Given the description of an element on the screen output the (x, y) to click on. 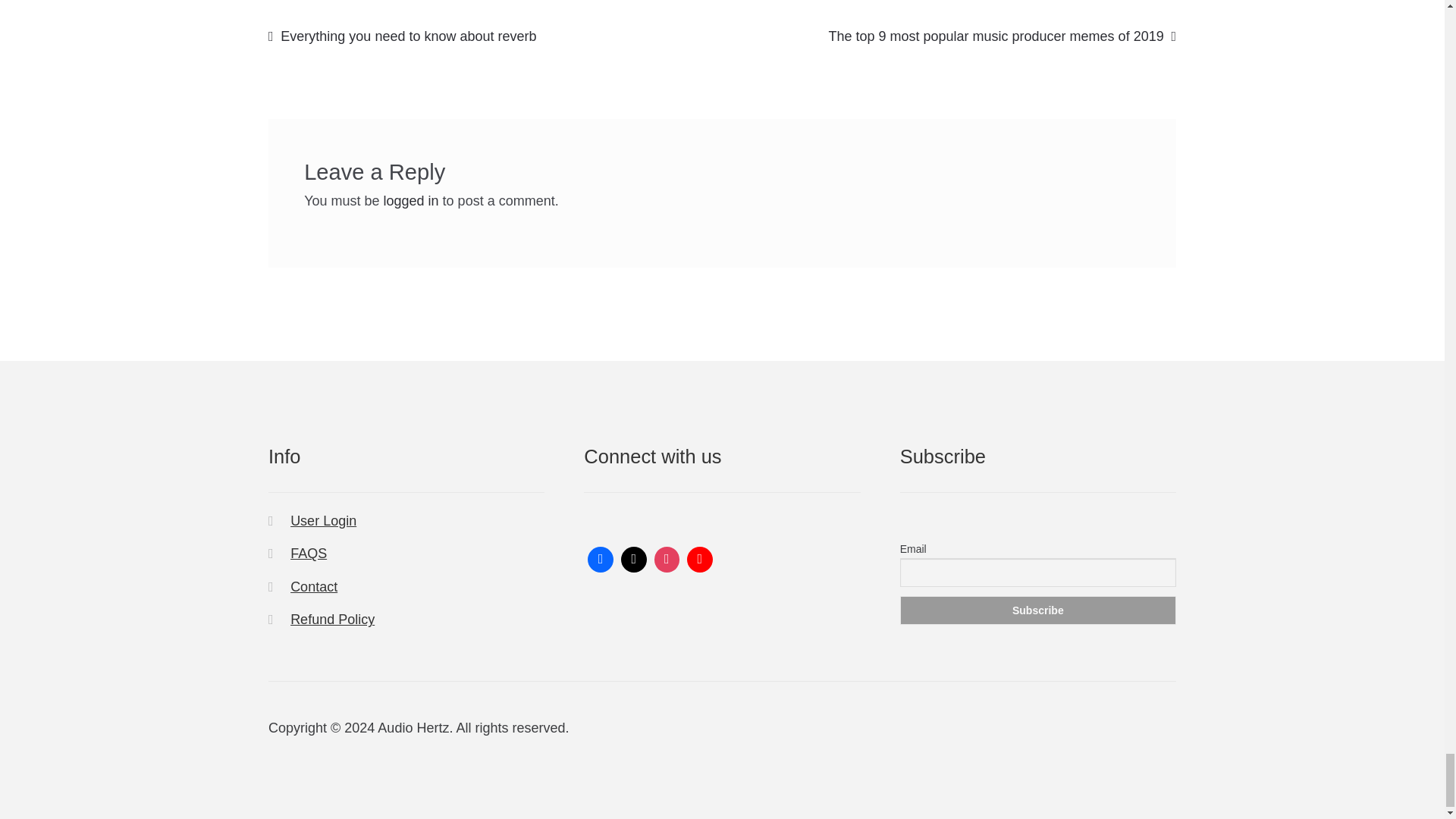
Facebook (600, 559)
X (633, 559)
Instagram (667, 559)
Subscribe (1037, 610)
Youtube (699, 559)
